Given the description of an element on the screen output the (x, y) to click on. 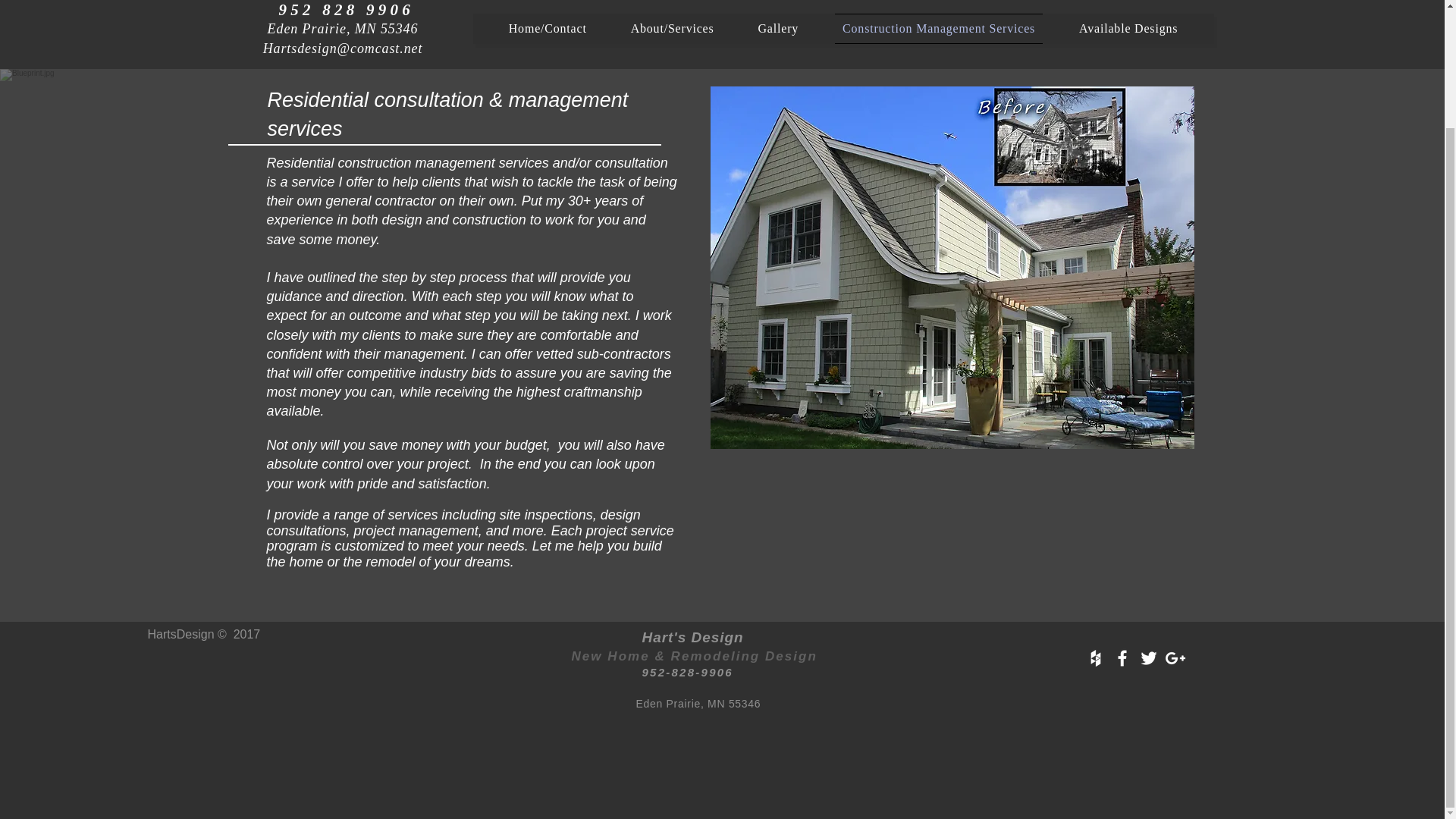
Construction Management Services (938, 28)
Gallery (778, 28)
Available Designs (1128, 28)
